Given the description of an element on the screen output the (x, y) to click on. 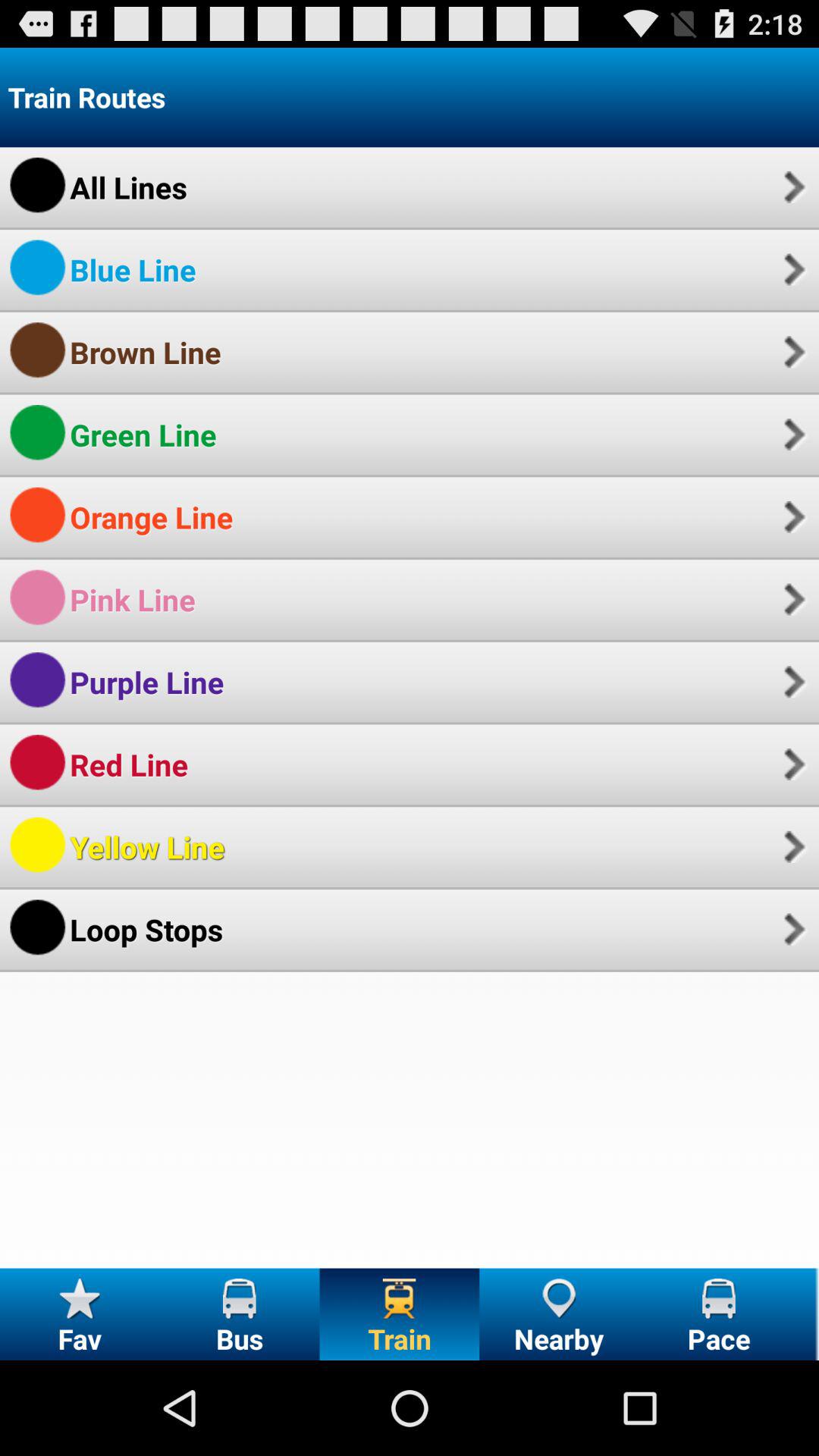
scroll until orange line (151, 517)
